Given the description of an element on the screen output the (x, y) to click on. 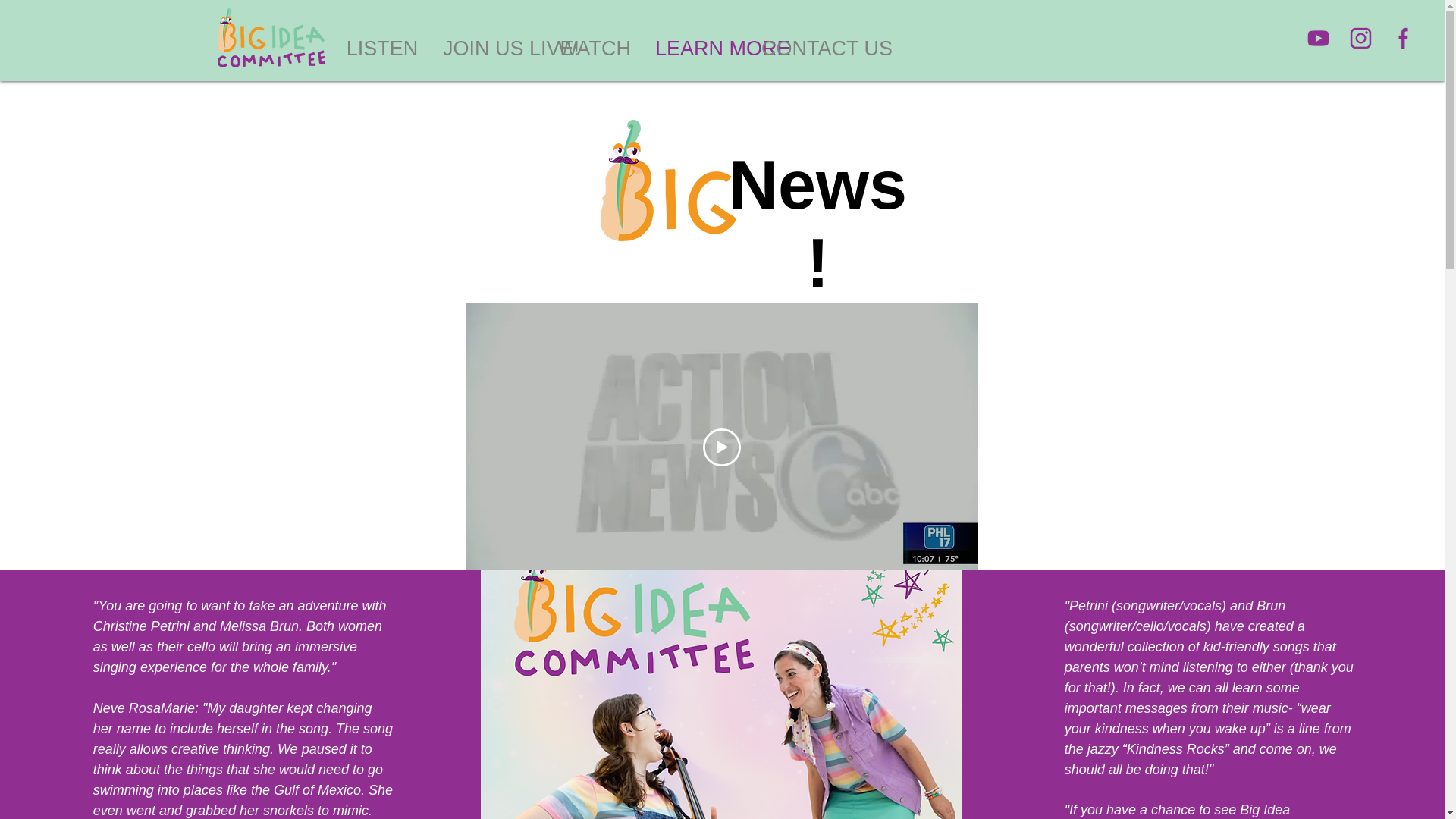
JOIN US LIVE! (488, 48)
CONTACT US (807, 48)
LEARN MORE (700, 48)
WATCH (594, 48)
LISTEN (382, 48)
